Given the description of an element on the screen output the (x, y) to click on. 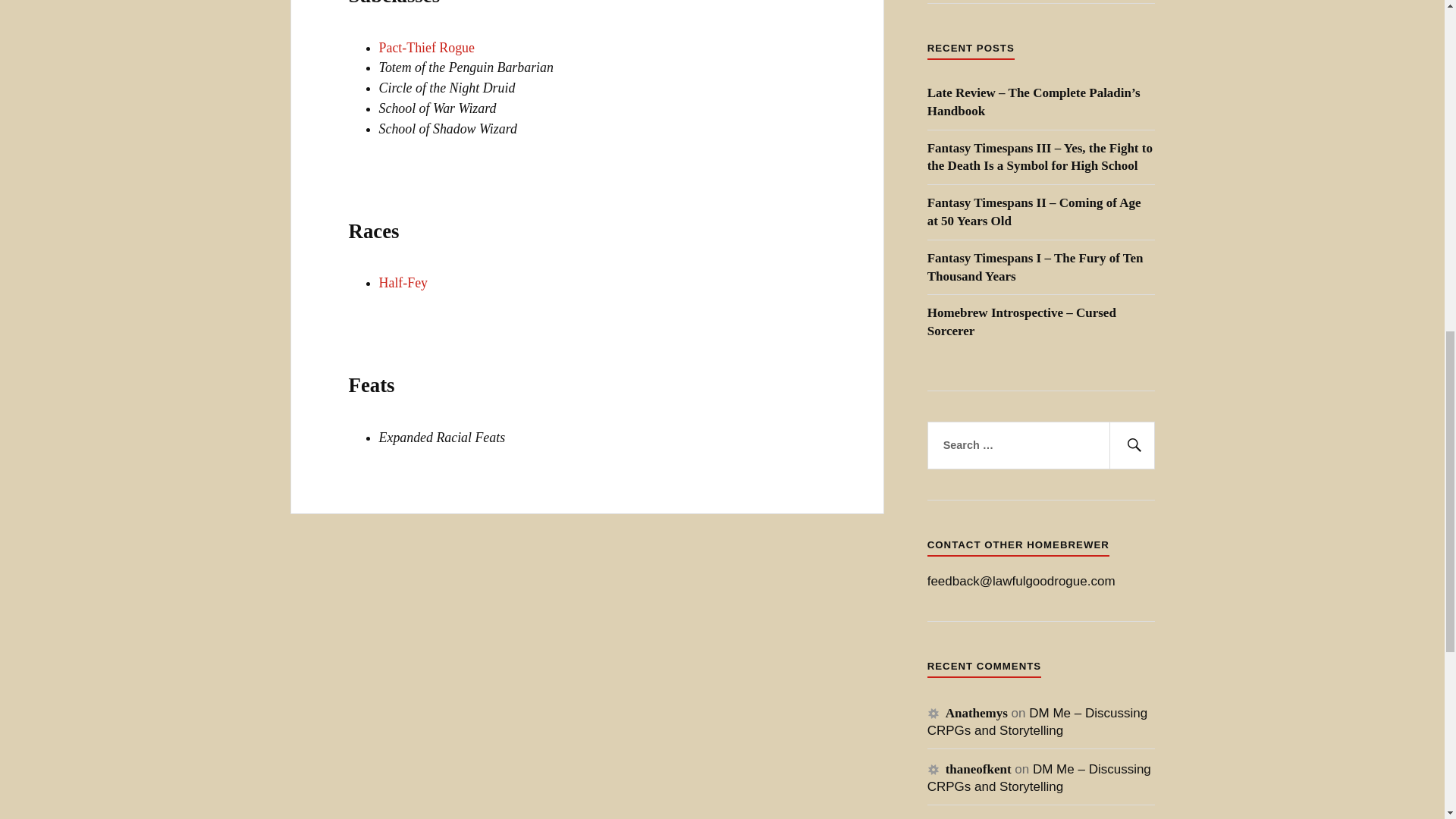
Search (1131, 445)
Search for: (1040, 445)
Anathemys (975, 712)
Pact-Thief Rogue (426, 47)
Half-Fey (403, 282)
